Given the description of an element on the screen output the (x, y) to click on. 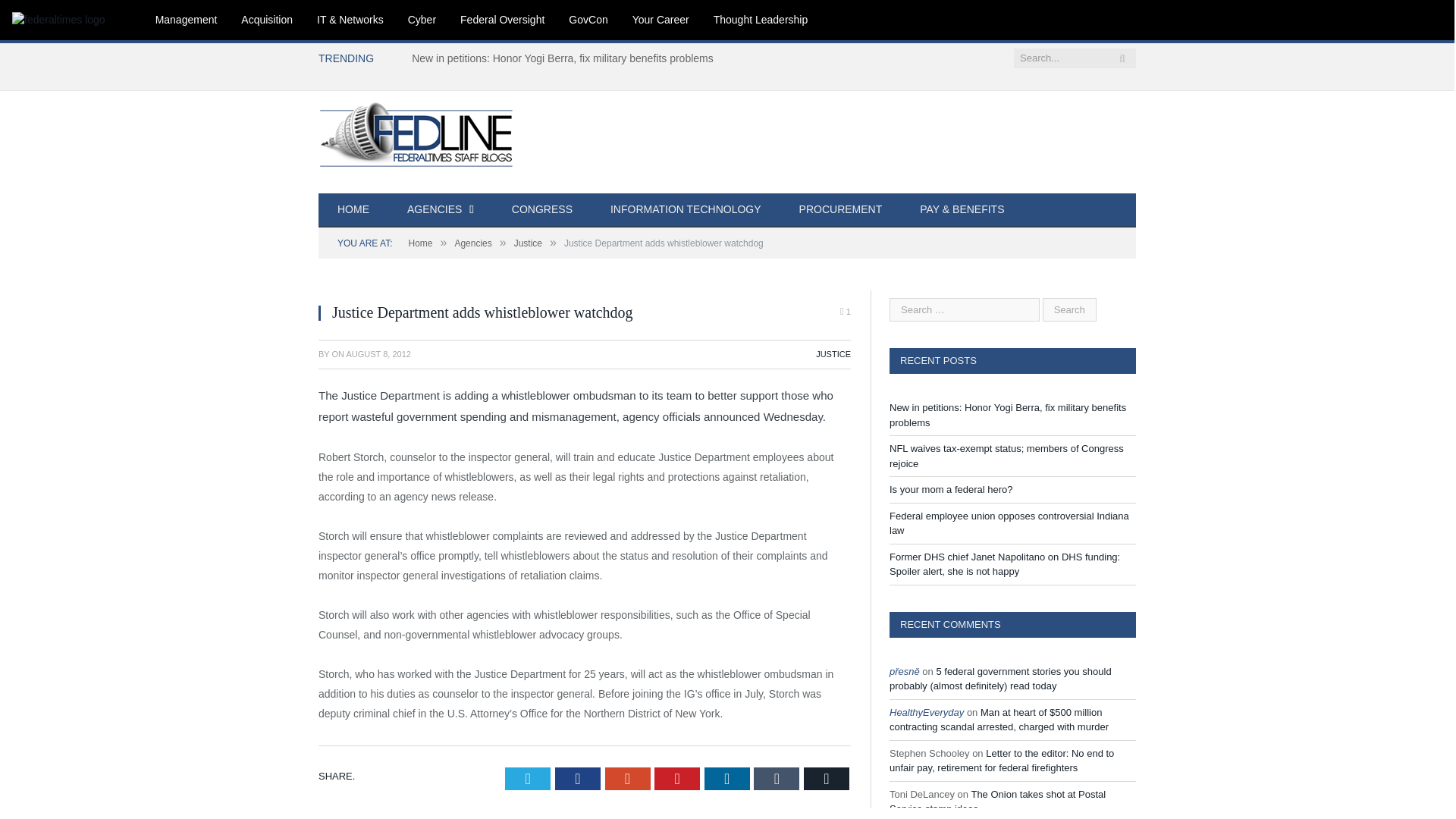
GovCon (588, 19)
Management (186, 19)
Your Career (660, 19)
PROCUREMENT (840, 210)
AGENCIES (440, 210)
Federal Oversight (502, 19)
Search (1069, 309)
Share on Pinterest (676, 778)
Cyber (422, 19)
